Given the description of an element on the screen output the (x, y) to click on. 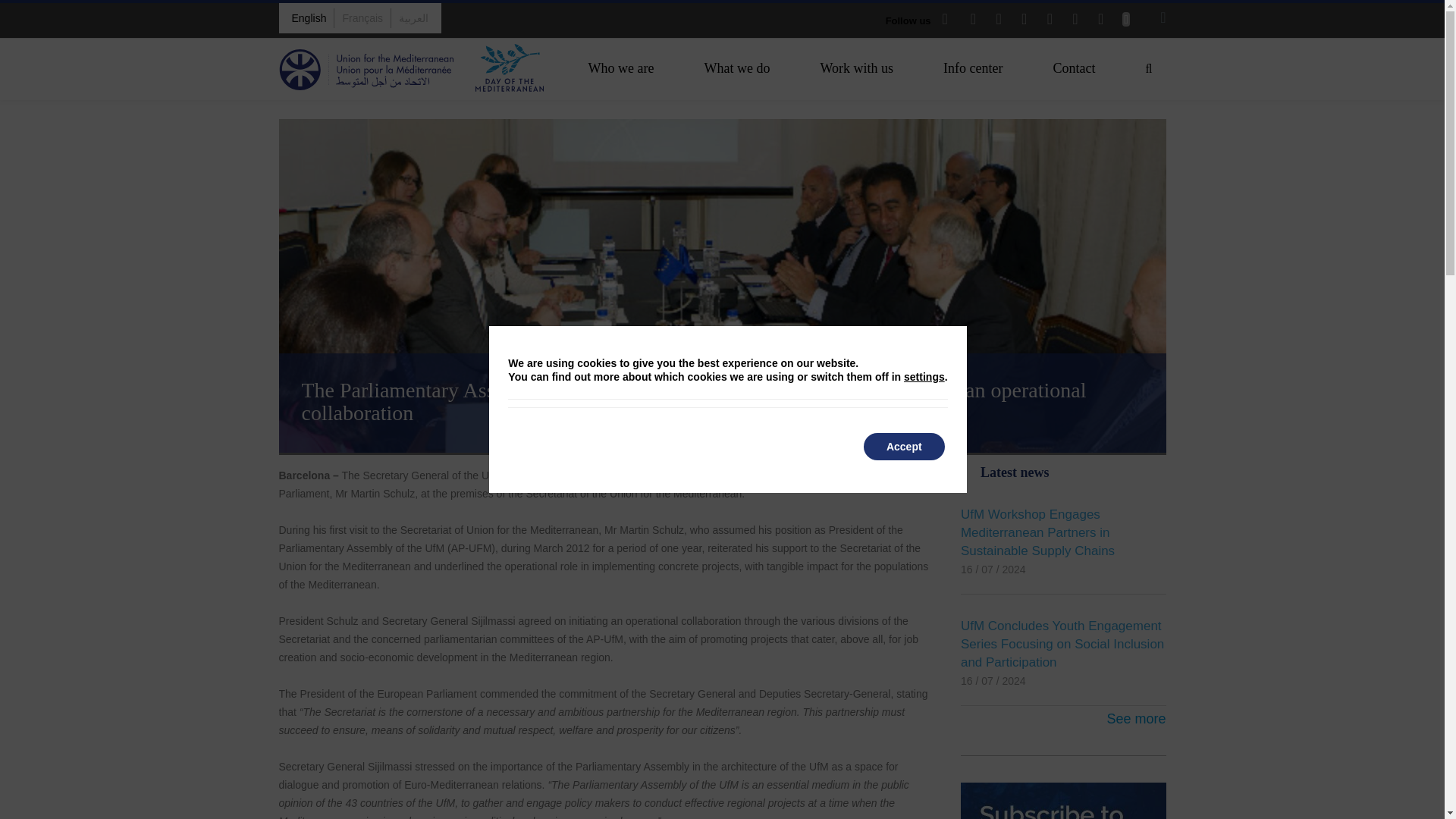
English (308, 17)
What we do (736, 67)
Who we are (621, 67)
